Given the description of an element on the screen output the (x, y) to click on. 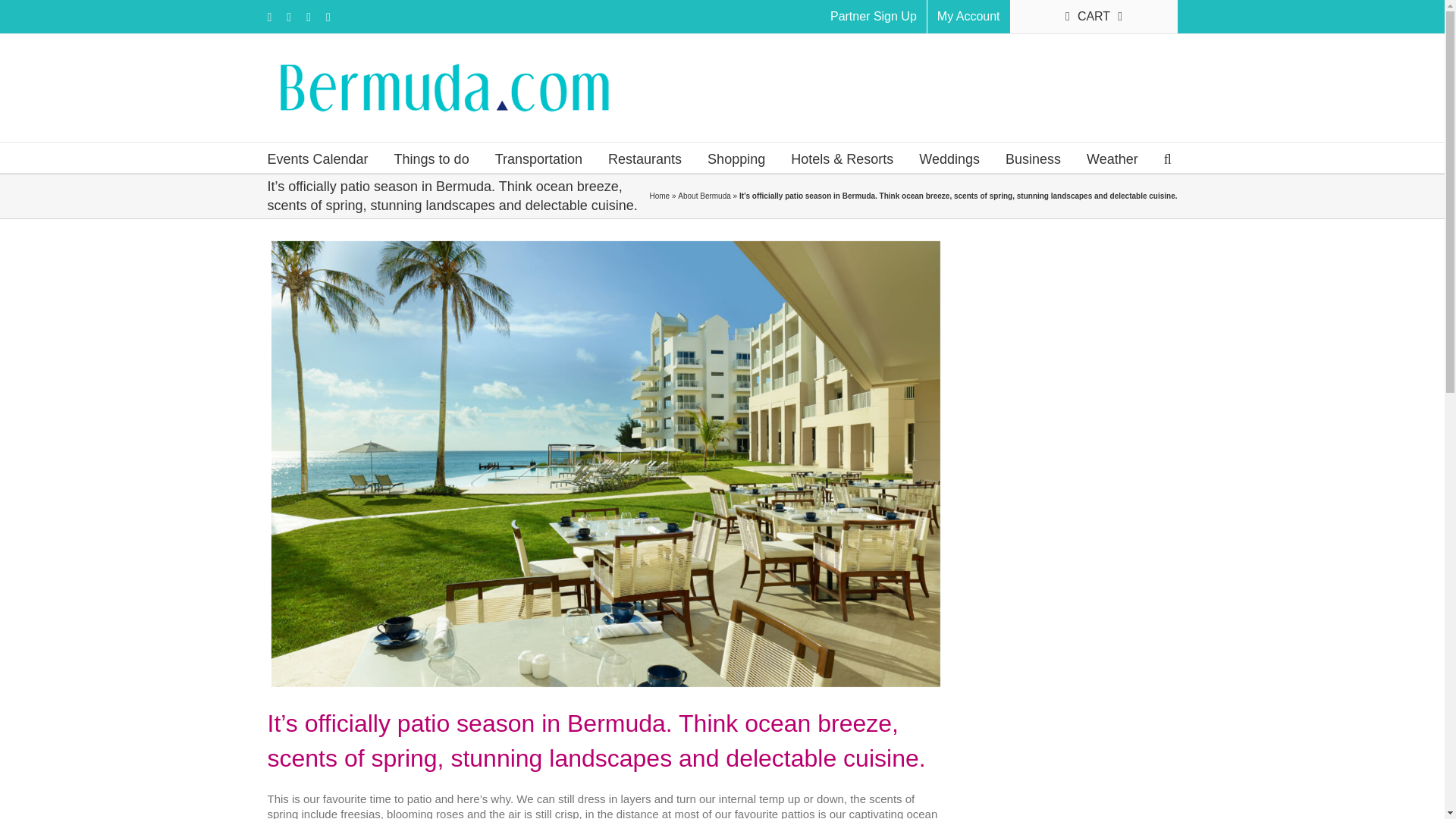
My Account (968, 16)
Twitter (308, 17)
Partner Sign Up (873, 16)
Search (1167, 157)
Things to do (431, 157)
Events Calendar (317, 157)
Instagram (328, 17)
Twitter (308, 17)
CART (1093, 16)
Rss (288, 17)
Rss (288, 17)
Facebook (268, 17)
Facebook (268, 17)
Instagram (328, 17)
